Given the description of an element on the screen output the (x, y) to click on. 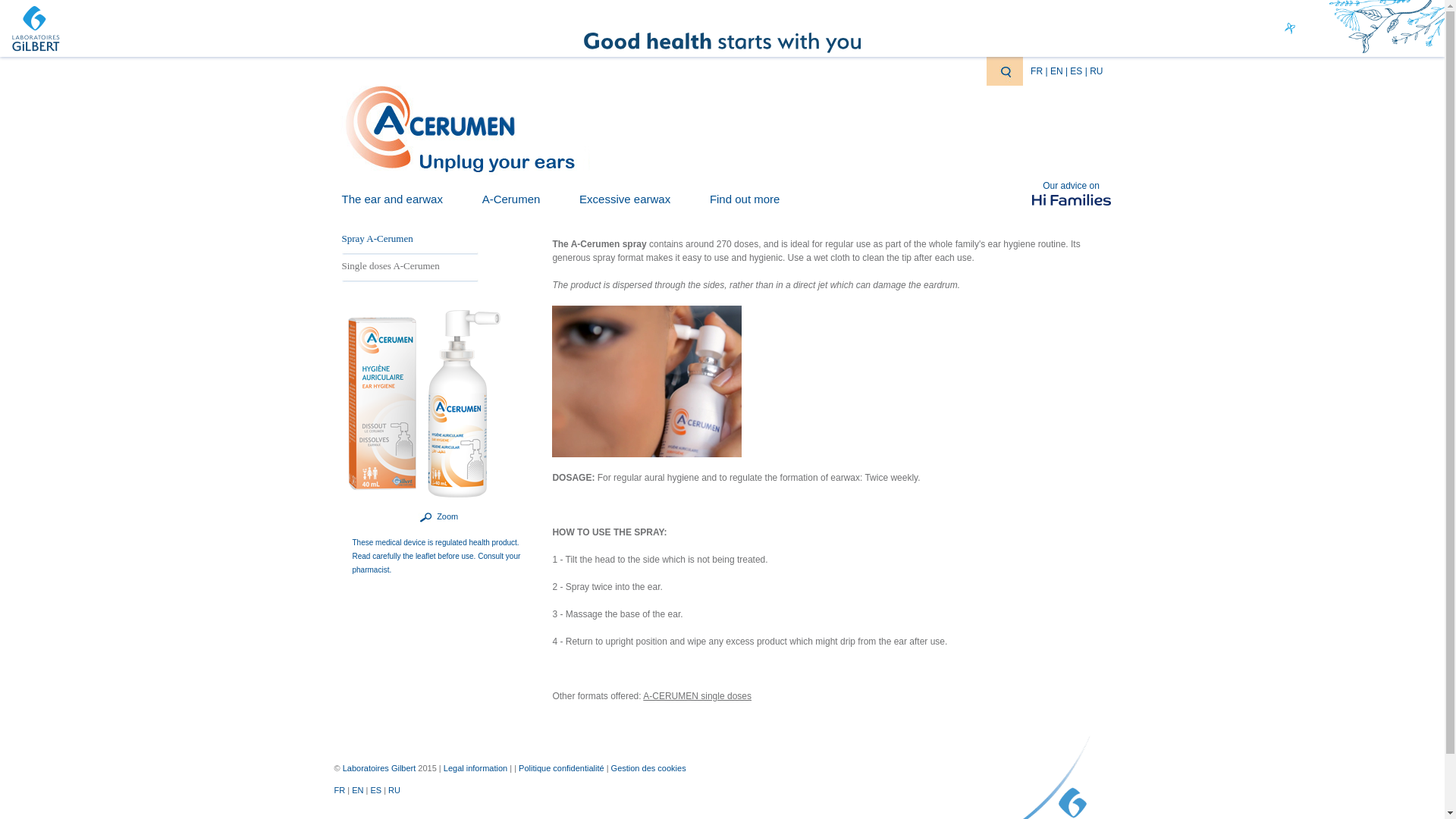
Legal information (475, 767)
ES (1077, 71)
A-Cerumen (511, 199)
The ear and earwax (391, 199)
Laboratoires Gilbert (33, 27)
A-cerumen Russian (394, 789)
Site institutionnel des Laboratoires Gilbert (379, 767)
EN (1057, 71)
A-cerumen English (1057, 71)
FR (1037, 71)
A-cerumen Russian (1095, 71)
A-cerumen English (358, 789)
RU (1095, 71)
